Given the description of an element on the screen output the (x, y) to click on. 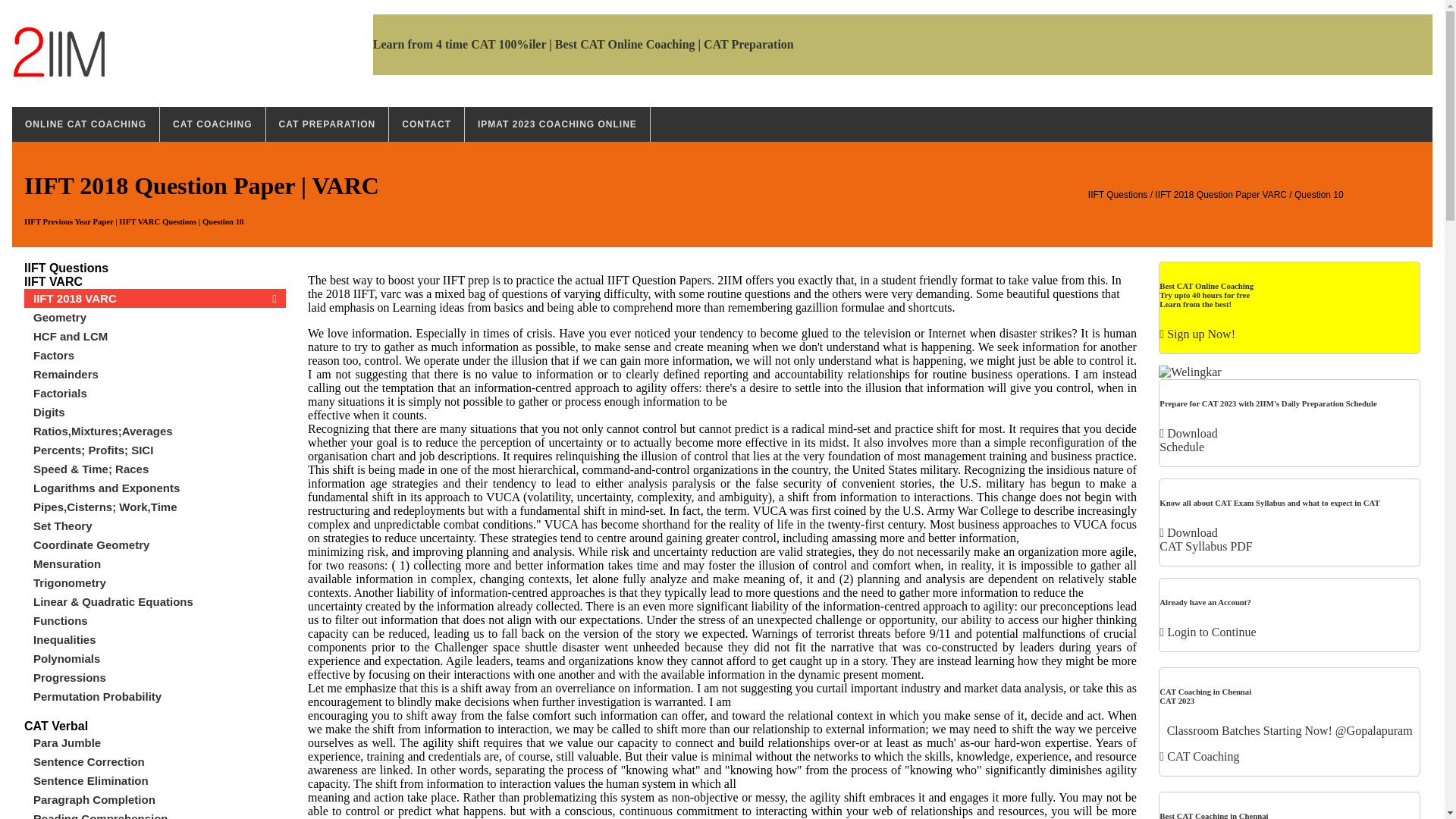
Paragraph Completion Element type: text (161, 799)
Inequalities Element type: text (161, 639)
Pipes,Cisterns; Work,Time Element type: text (161, 506)
Digits Element type: text (161, 411)
Speed & Time; Races Element type: text (161, 468)
Geometry Element type: text (161, 316)
CAT COACHING Element type: text (212, 123)
Linear & Quadratic Equations Element type: text (161, 601)
CAT Coaching in Chennai
CAT 2023 Element type: text (1205, 696)
CAT PREPARATION Element type: text (327, 123)
Progressions Element type: text (161, 677)
Remainders Element type: text (161, 373)
Permutation Probability Element type: text (161, 696)
Coordinate Geometry Element type: text (161, 544)
IIFT 2018 Question Paper VARC Element type: text (1220, 194)
Sentence Elimination Element type: text (161, 780)
Logarithms and Exponents Element type: text (161, 487)
ONLINE CAT COACHING Element type: text (85, 123)
Sentence Correction Element type: text (161, 761)
Polynomials Element type: text (161, 658)
Ratios,Mixtures;Averages Element type: text (161, 430)
Percents; Profits; SICI Element type: text (161, 449)
Factorials Element type: text (161, 392)
Classroom Batches Starting Now! @Gopalapuram Element type: text (1289, 730)
Trigonometry Element type: text (161, 582)
Prepare for CAT 2023 with 2IIM's Daily Preparation Schedule Element type: text (1267, 402)
Mensuration Element type: text (161, 563)
IIFT Questions Element type: text (1117, 194)
IPMAT 2023 COACHING ONLINE Element type: text (556, 123)
HCF and LCM Element type: text (161, 335)
Functions Element type: text (161, 620)
Factors Element type: text (161, 354)
Know all about CAT Exam Syllabus and what to expect in CAT Element type: text (1269, 502)
Set Theory Element type: text (161, 525)
Para Jumble Element type: text (161, 742)
CONTACT Element type: text (426, 123)
Already have an Account? Element type: text (1204, 601)
